Given the description of an element on the screen output the (x, y) to click on. 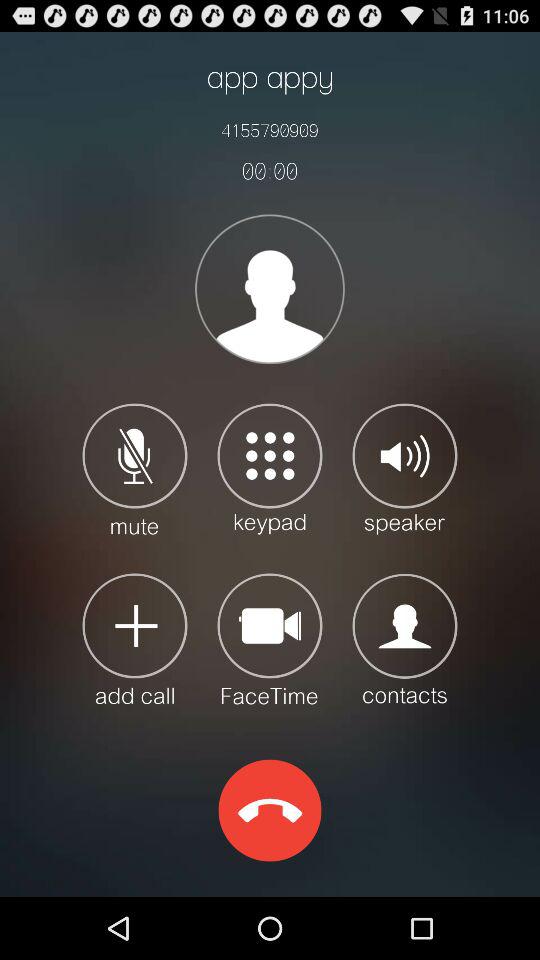
launch the icon at the bottom (269, 809)
